Given the description of an element on the screen output the (x, y) to click on. 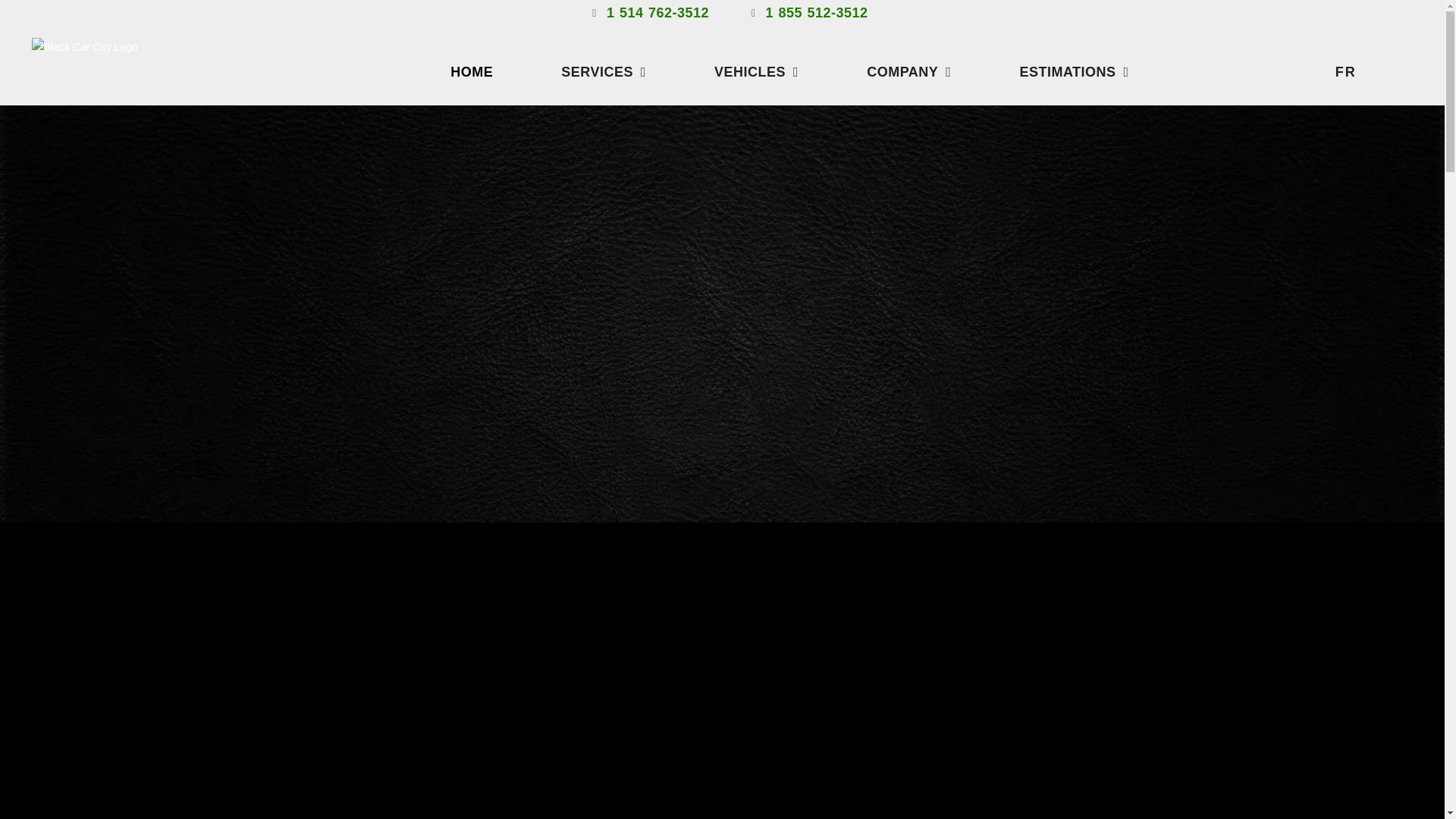
ESTIMATIONS (1073, 71)
VEHICLES (756, 71)
HOME (471, 71)
COMPANY (908, 71)
1 514 762-3512 (648, 13)
1 855 512-3512 (806, 13)
SERVICES (603, 71)
